Given the description of an element on the screen output the (x, y) to click on. 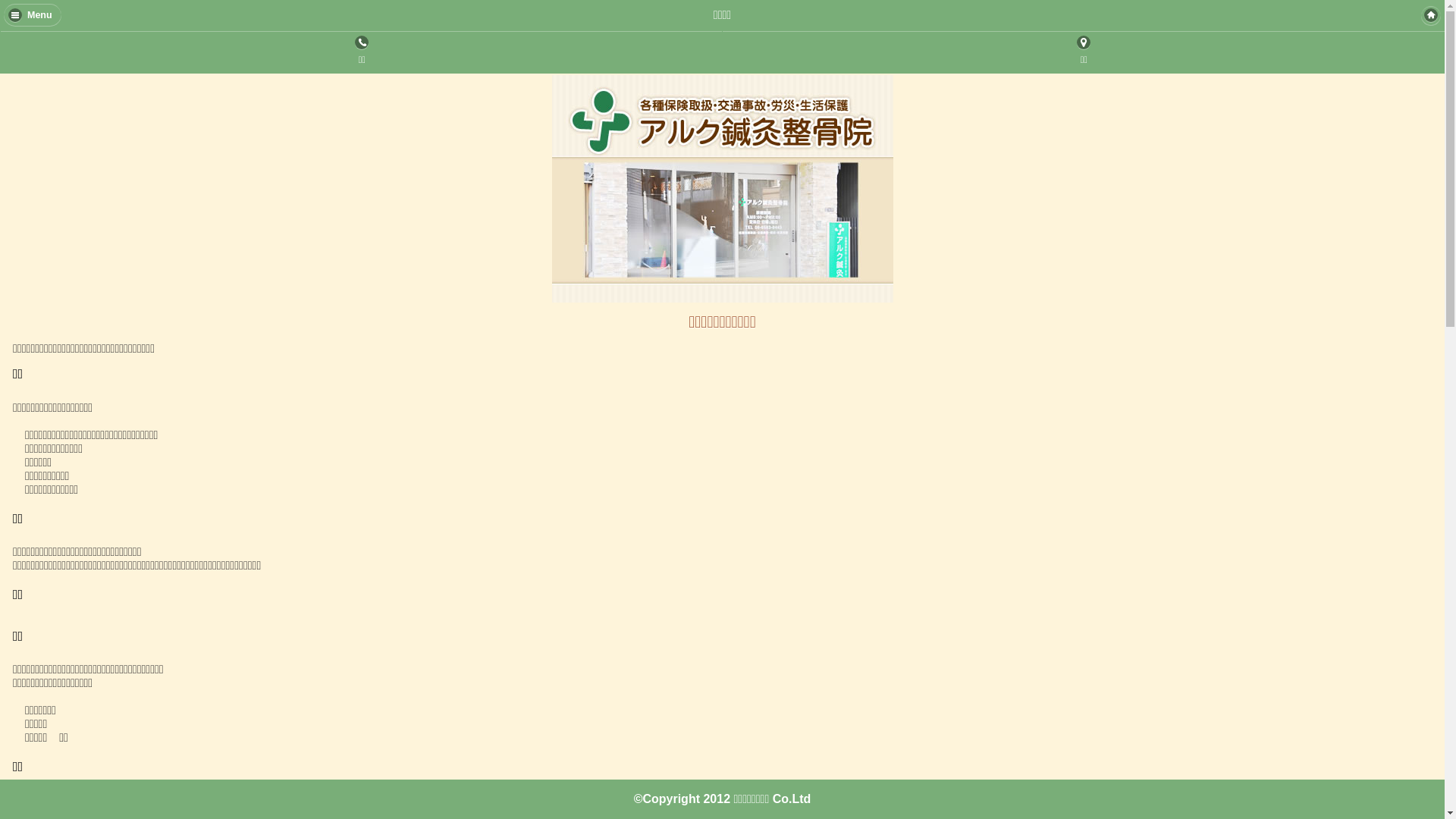
Menu
  Element type: text (32, 14)
  Element type: text (1430, 15)
Home Element type: hover (1430, 15)
